Given the description of an element on the screen output the (x, y) to click on. 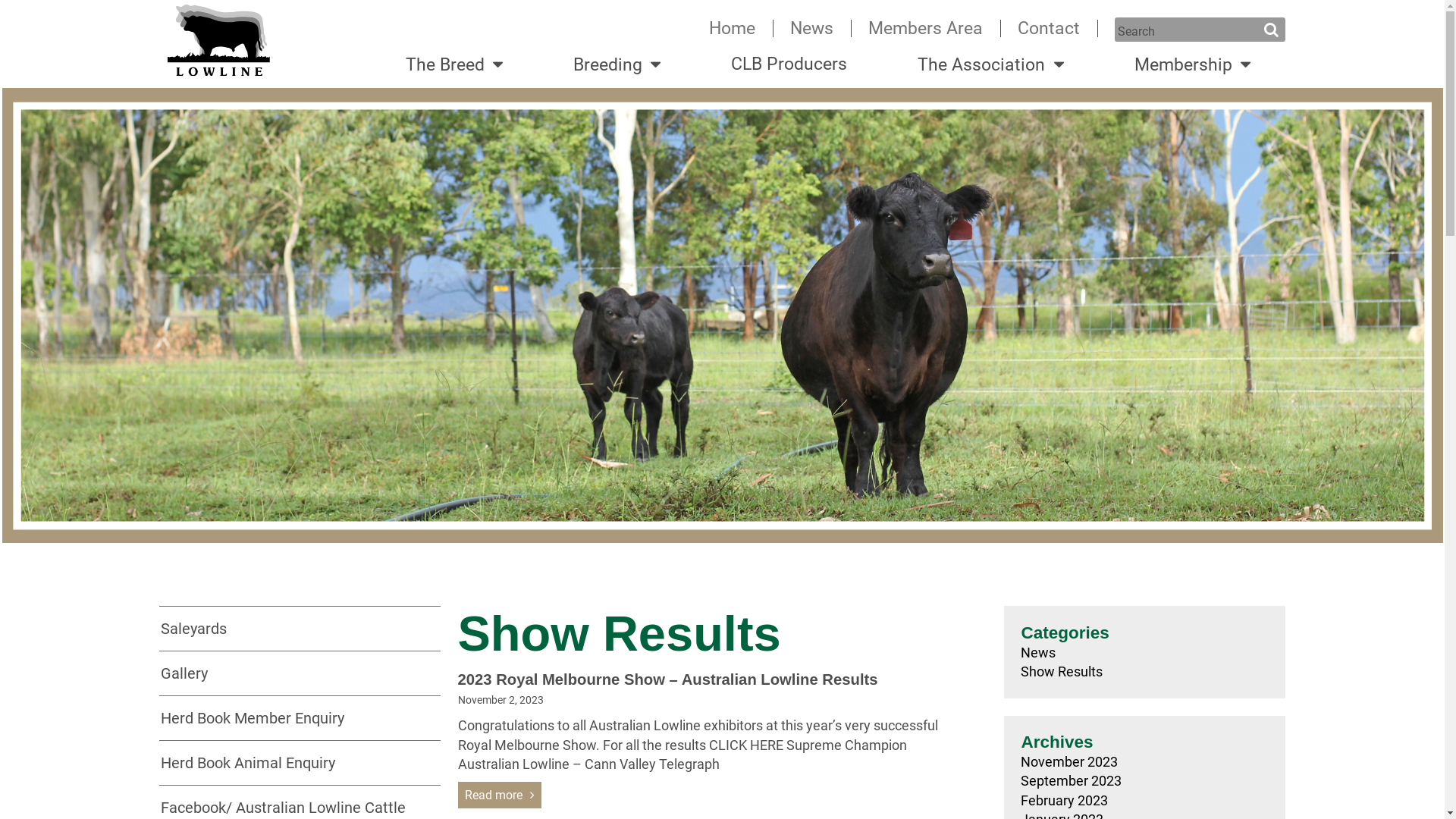
Gallery Element type: text (183, 673)
Search for: Element type: hover (1200, 29)
News Element type: text (1143, 652)
Read more Element type: text (500, 794)
CLB Producers Element type: text (789, 64)
Breeding Element type: text (616, 64)
Show Results Element type: text (1143, 671)
Membership Element type: text (1191, 64)
Members Area Element type: text (925, 28)
Herd Book Member Enquiry Element type: text (252, 718)
News Element type: text (811, 28)
November 2023 Element type: text (1143, 761)
The Breed Element type: text (453, 64)
Saleyards Element type: text (193, 628)
Contact Element type: text (1048, 28)
The Association Element type: text (990, 64)
Herd Book Animal Enquiry Element type: text (247, 762)
Home Element type: text (732, 28)
September 2023 Element type: text (1143, 780)
February 2023 Element type: text (1143, 799)
